Given the description of an element on the screen output the (x, y) to click on. 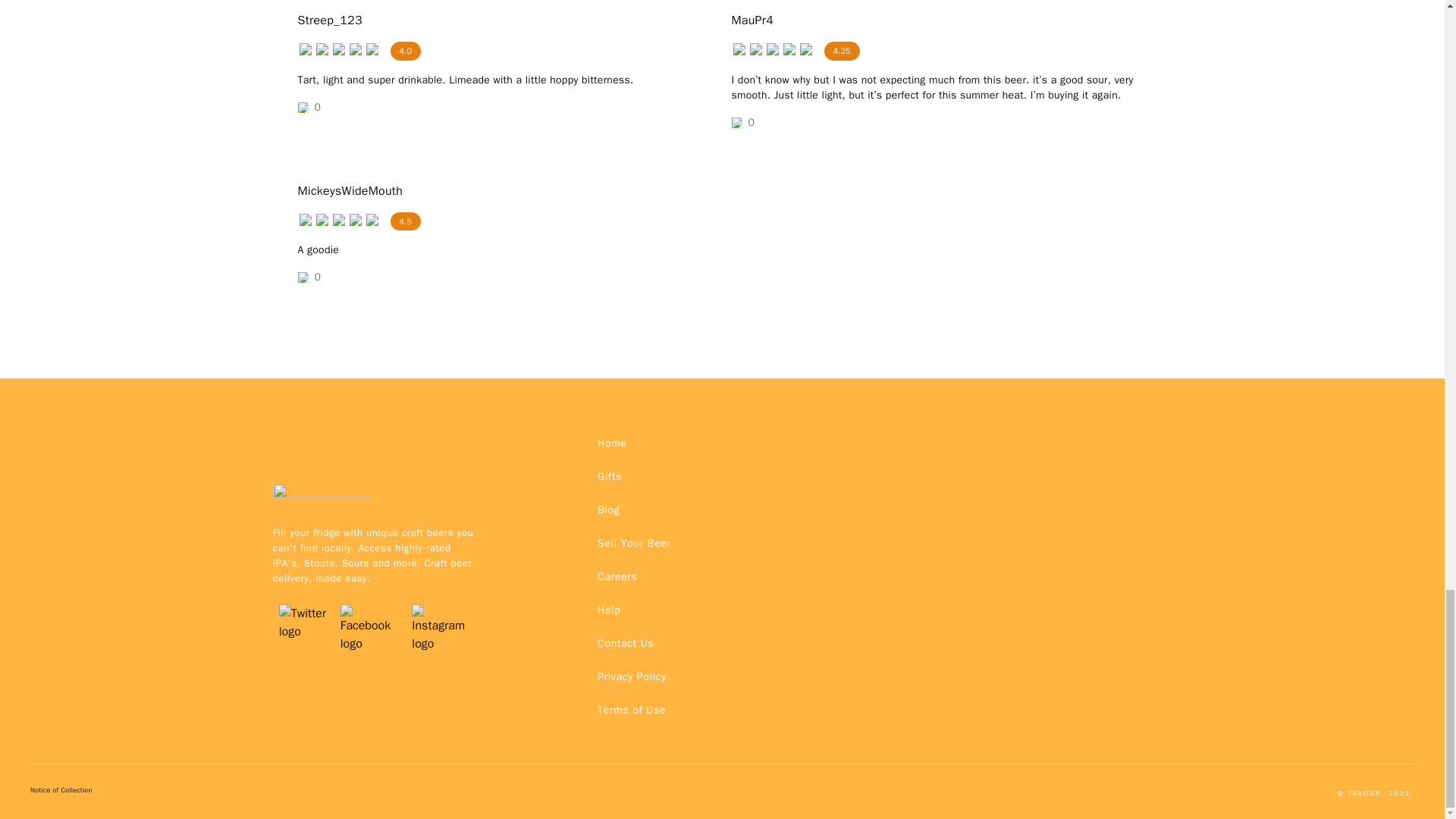
gifts (609, 476)
Help (608, 610)
Blog (608, 510)
Home (612, 443)
FAQ (631, 676)
Tavour (322, 498)
Help (608, 610)
Gifts (609, 476)
Twitter (303, 604)
Facebook (370, 604)
